Given the description of an element on the screen output the (x, y) to click on. 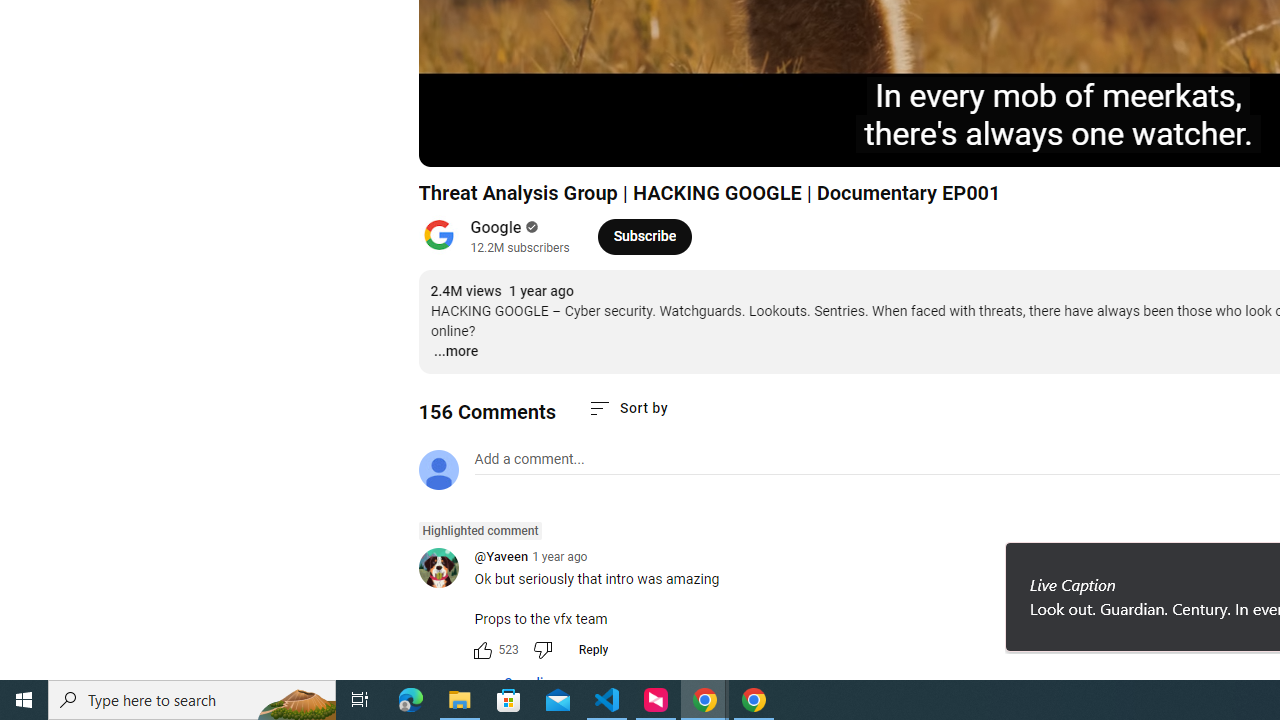
Verified (530, 227)
Sort comments (627, 408)
...more (454, 352)
Pause (k) (453, 142)
2 replies (518, 684)
Default profile photo (438, 470)
@Yaveen (446, 569)
Subscribe to Google. (644, 236)
AutomationID: simplebox-placeholder (528, 459)
1 year ago (559, 556)
Like this comment along with 523 other people (482, 650)
Mute (m) (548, 142)
Highlighted comment (480, 531)
